Given the description of an element on the screen output the (x, y) to click on. 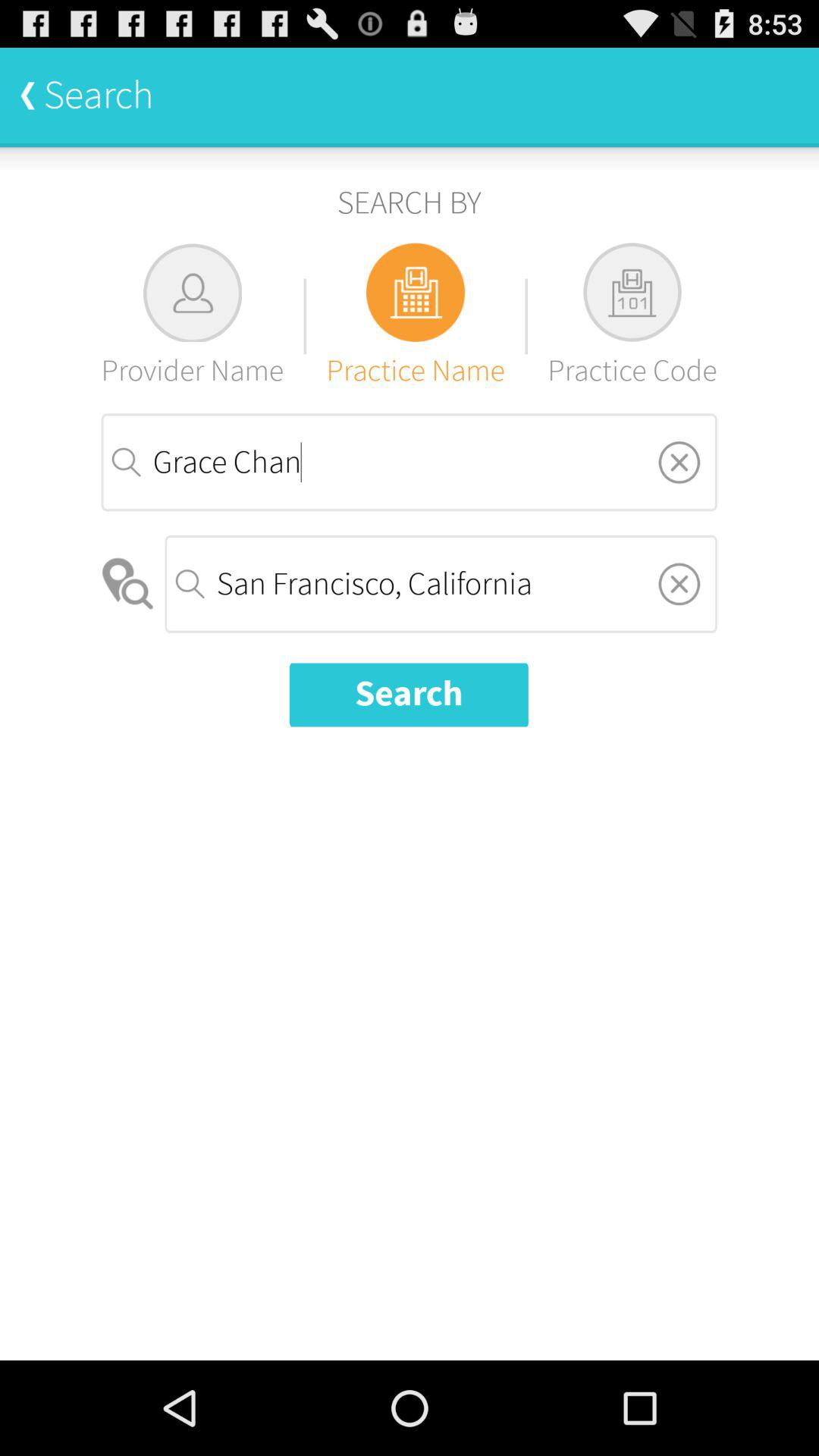
select the item on the right (679, 583)
